Given the description of an element on the screen output the (x, y) to click on. 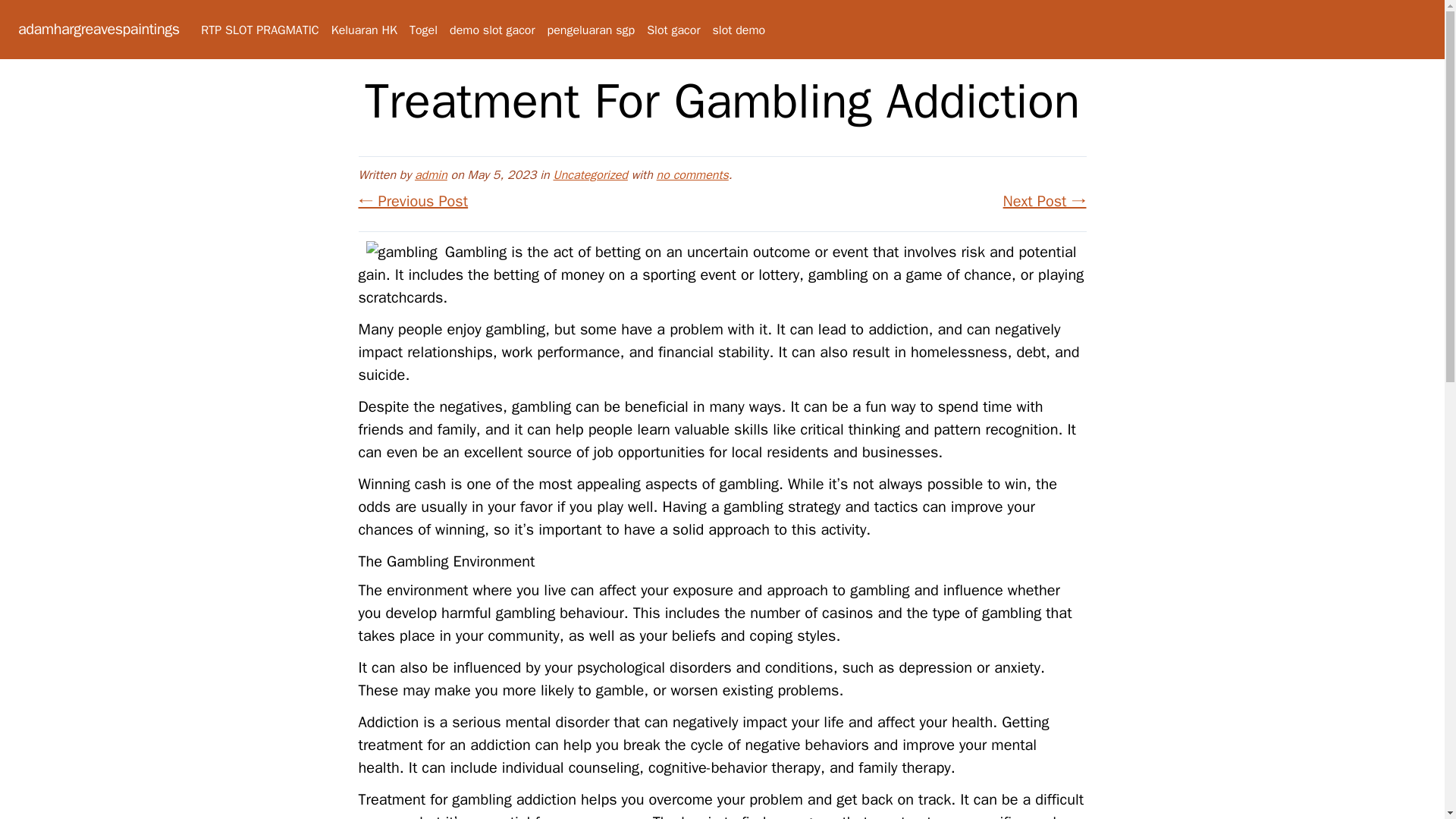
Togel (423, 30)
Keluaran HK (364, 30)
no comments (692, 174)
admin (430, 174)
RTP SLOT PRAGMATIC (259, 30)
no comments (692, 174)
pengeluaran sgp (590, 30)
Uncategorized (590, 174)
Slot gacor (673, 30)
slot demo (739, 30)
adamhargreavespaintings (98, 29)
demo slot gacor (491, 30)
